Given the description of an element on the screen output the (x, y) to click on. 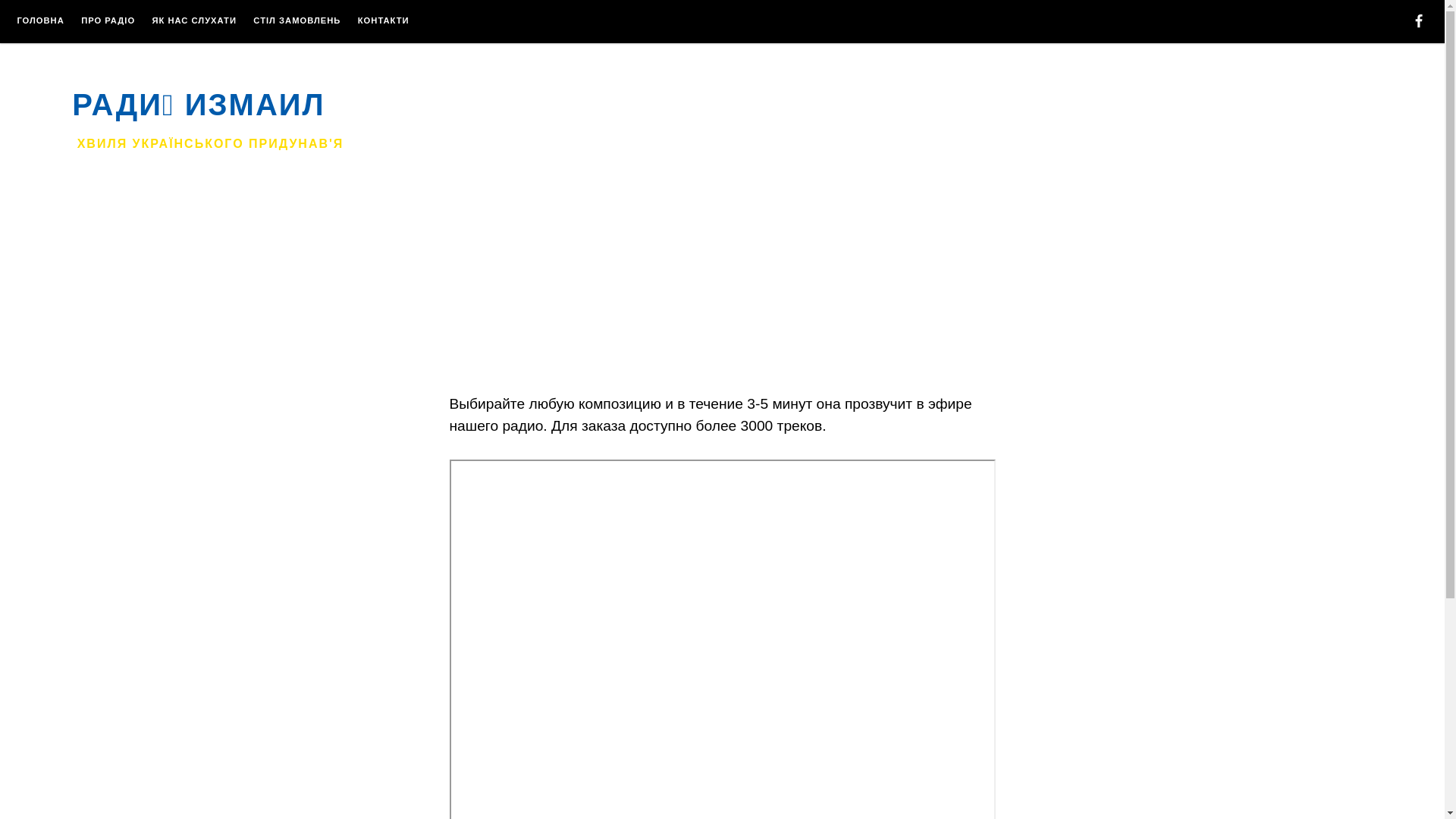
FACEBOOK Element type: text (1418, 23)
